Given the description of an element on the screen output the (x, y) to click on. 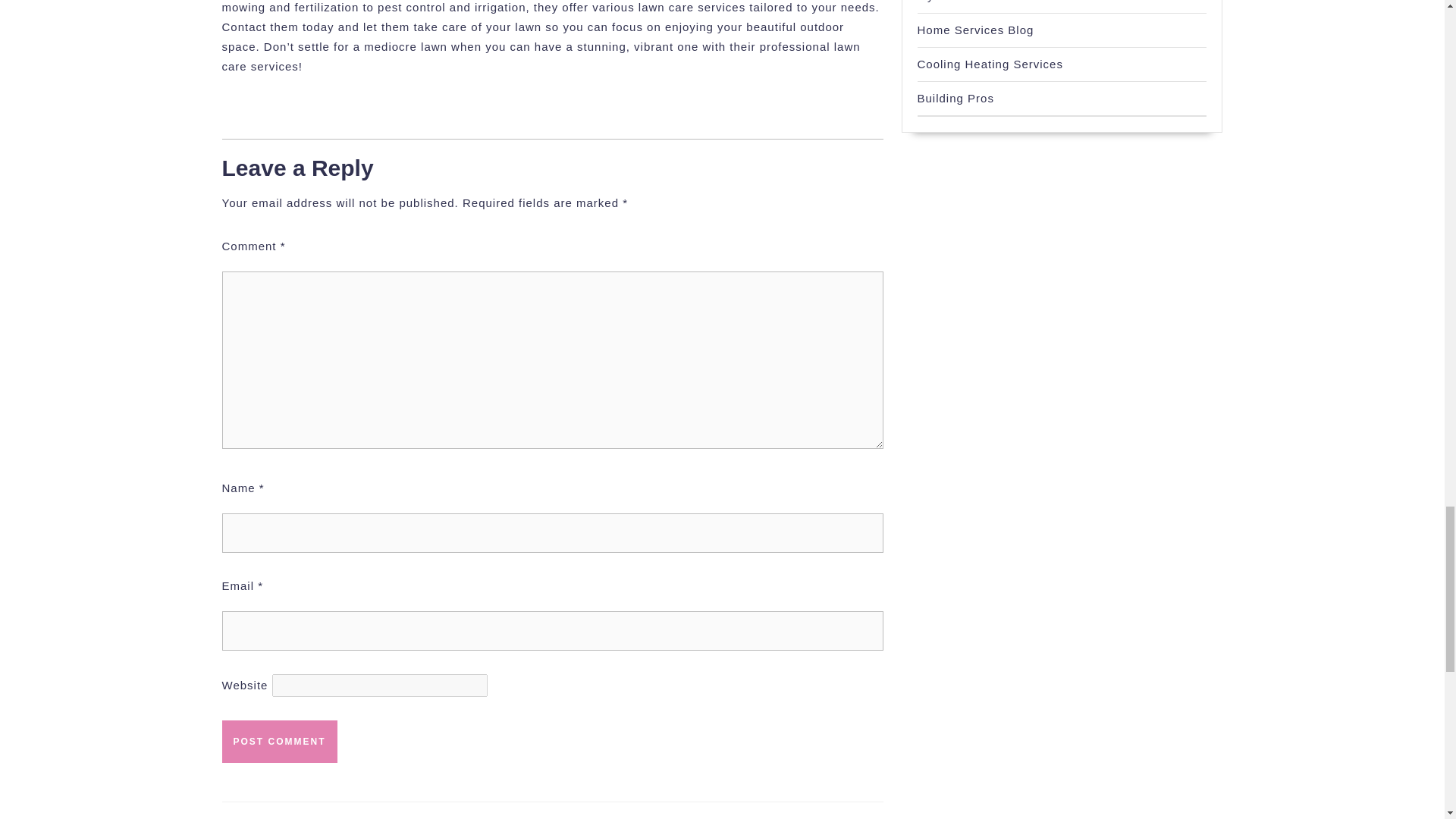
Post Comment (278, 741)
Post Comment (278, 741)
